Given the description of an element on the screen output the (x, y) to click on. 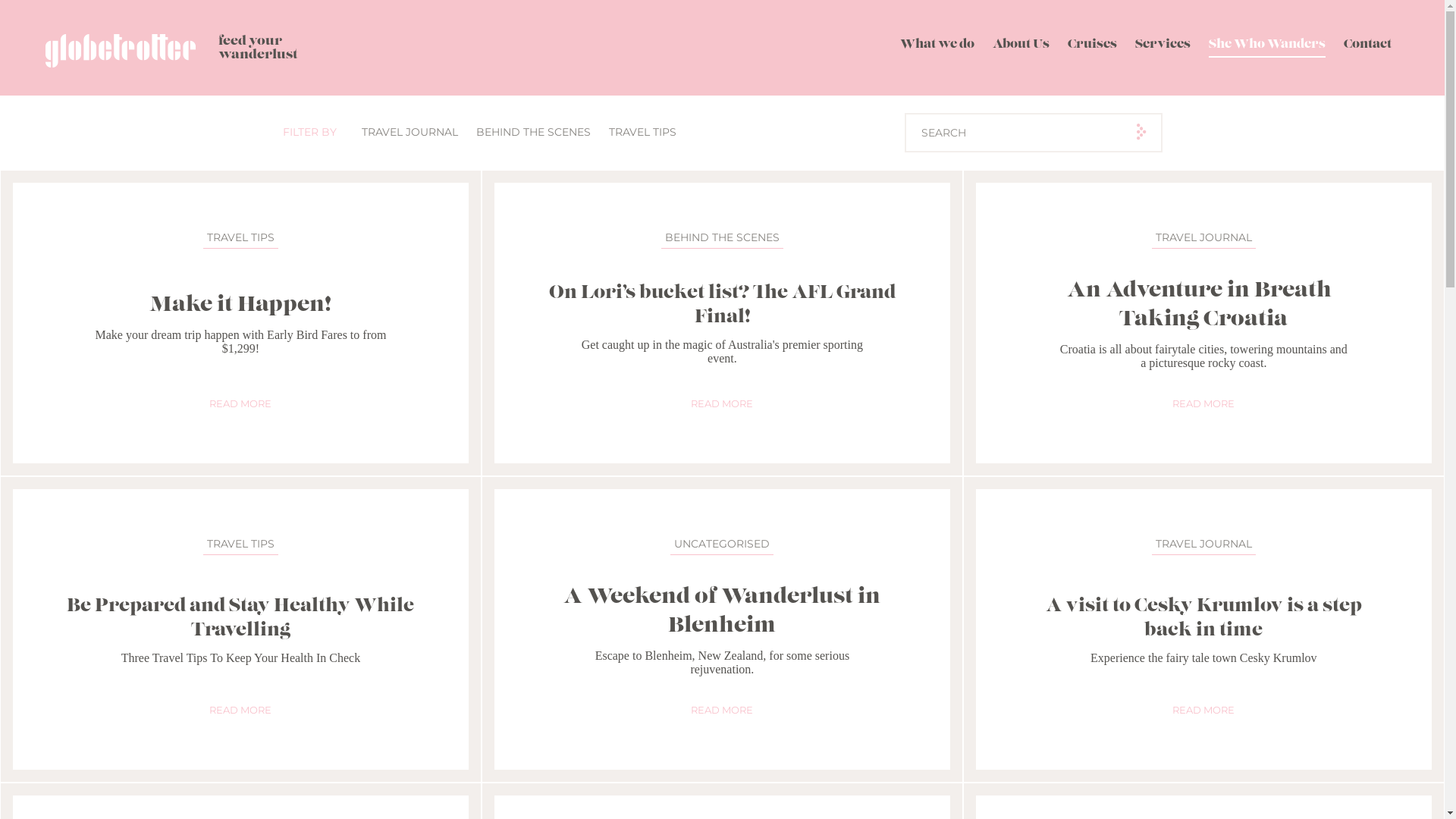
Cruises Element type: text (1092, 47)
BEHIND THE SCENES Element type: text (533, 131)
TRAVEL TIPS Element type: text (641, 131)
What we do Element type: text (937, 47)
Services Element type: text (1162, 47)
She Who Wanders Element type: text (1266, 47)
Contact Element type: text (1367, 47)
About Us Element type: text (1020, 47)
TRAVEL JOURNAL Element type: text (408, 131)
